Given the description of an element on the screen output the (x, y) to click on. 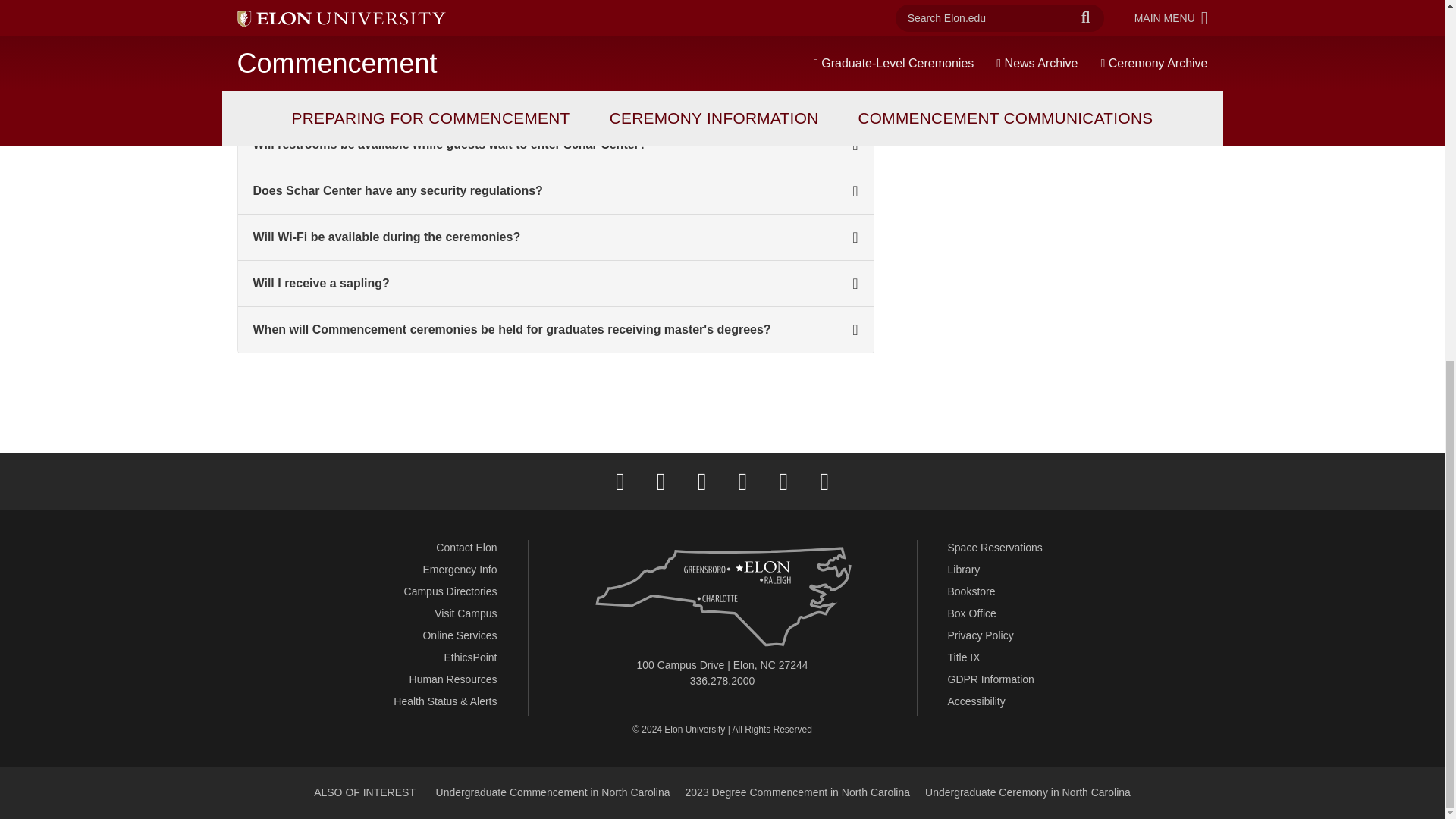
LinkedIn (742, 481)
Full Social Media List (824, 481)
Instagram (701, 481)
YouTube (783, 481)
Facebook (620, 481)
